Given the description of an element on the screen output the (x, y) to click on. 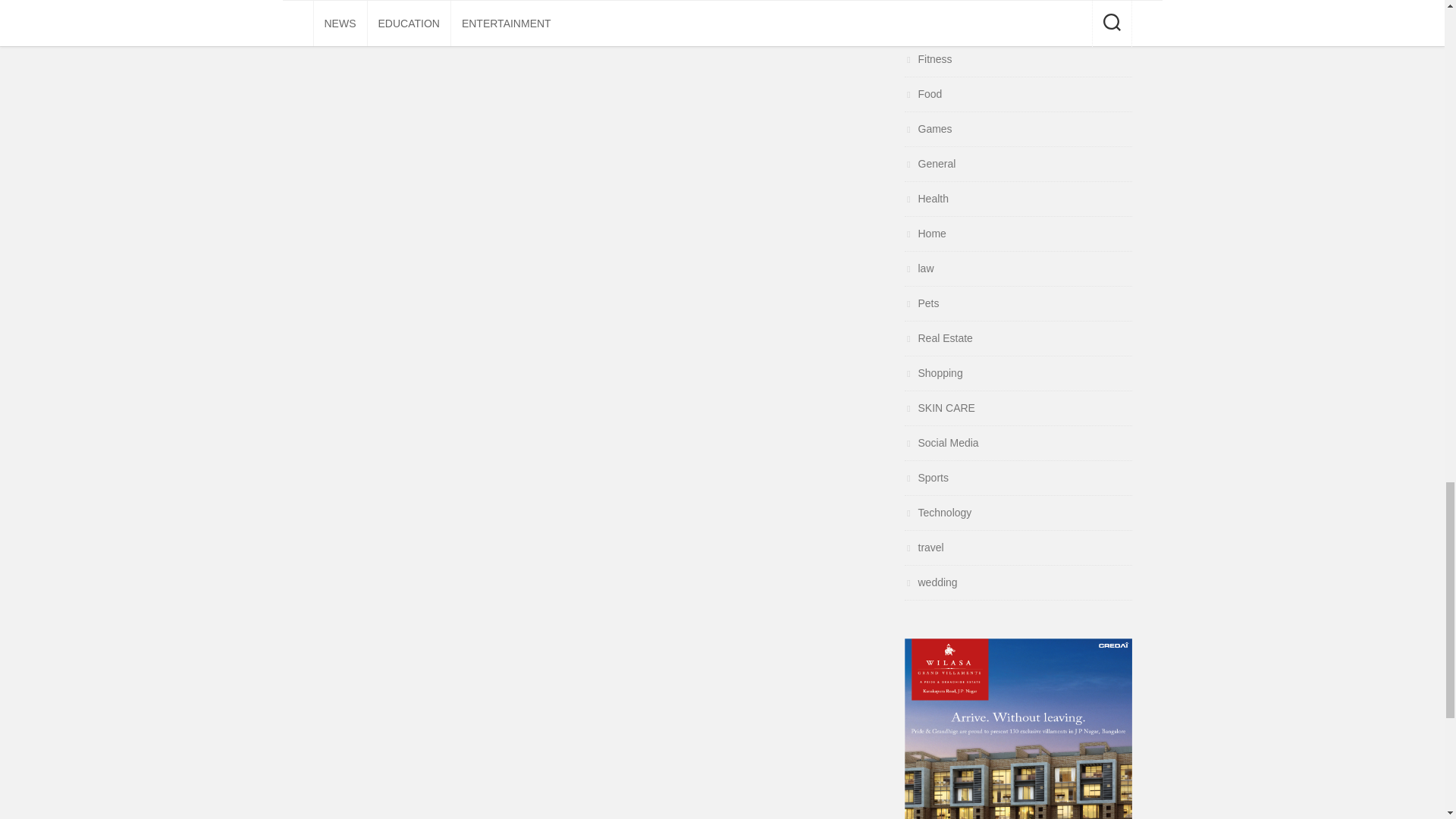
Finance (929, 24)
Food (923, 93)
Games (928, 128)
Fitness (928, 59)
General (929, 163)
